Given the description of an element on the screen output the (x, y) to click on. 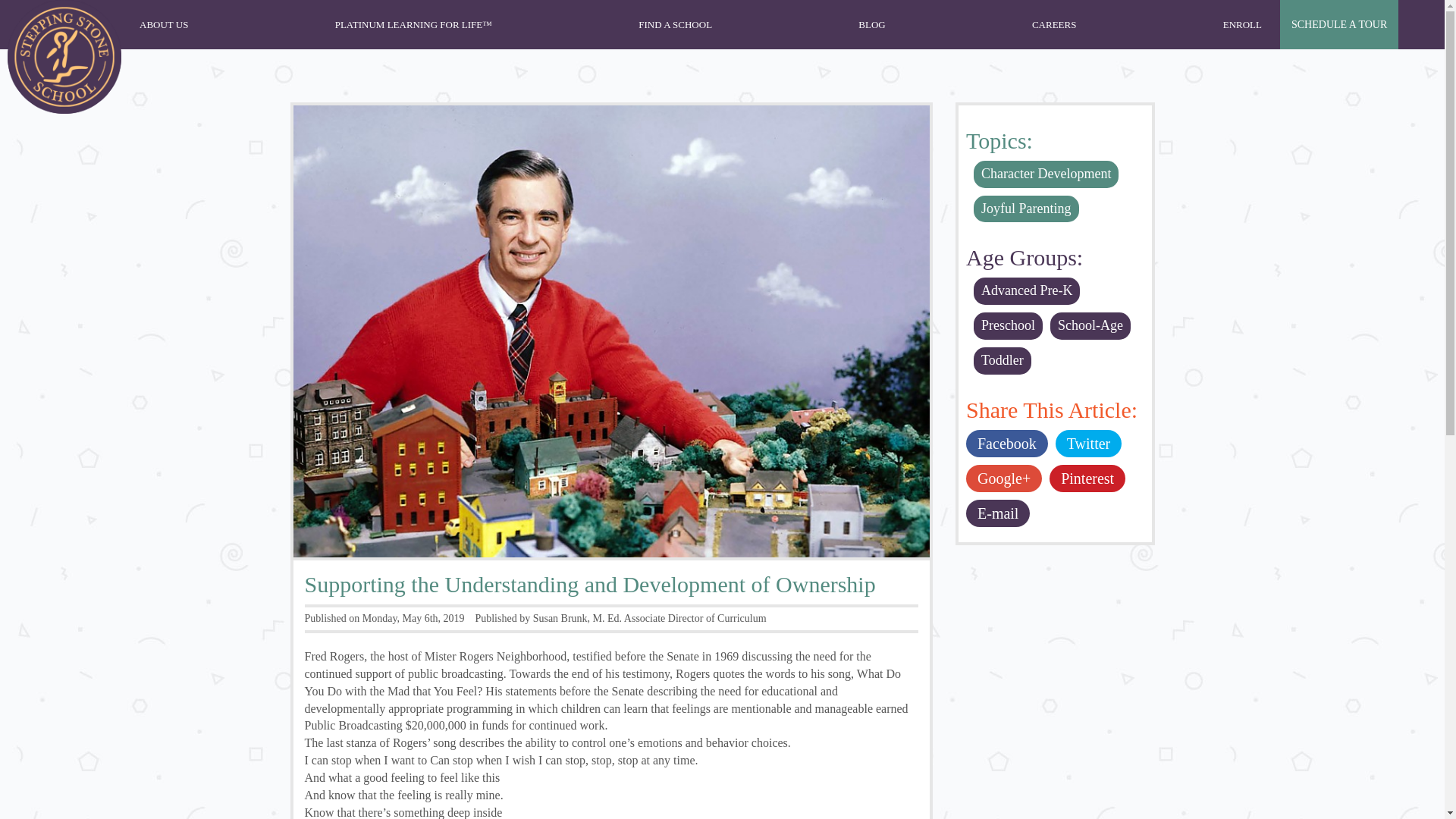
BLOG (871, 24)
FIND A SCHOOL (675, 24)
Tweet (1088, 443)
Share on Facebook (1007, 443)
Pin it (1087, 478)
ENROLL (1242, 24)
CAREERS (1053, 24)
ABOUT US (163, 24)
Send email (997, 513)
SCHEDULE A TOUR (1338, 24)
